Given the description of an element on the screen output the (x, y) to click on. 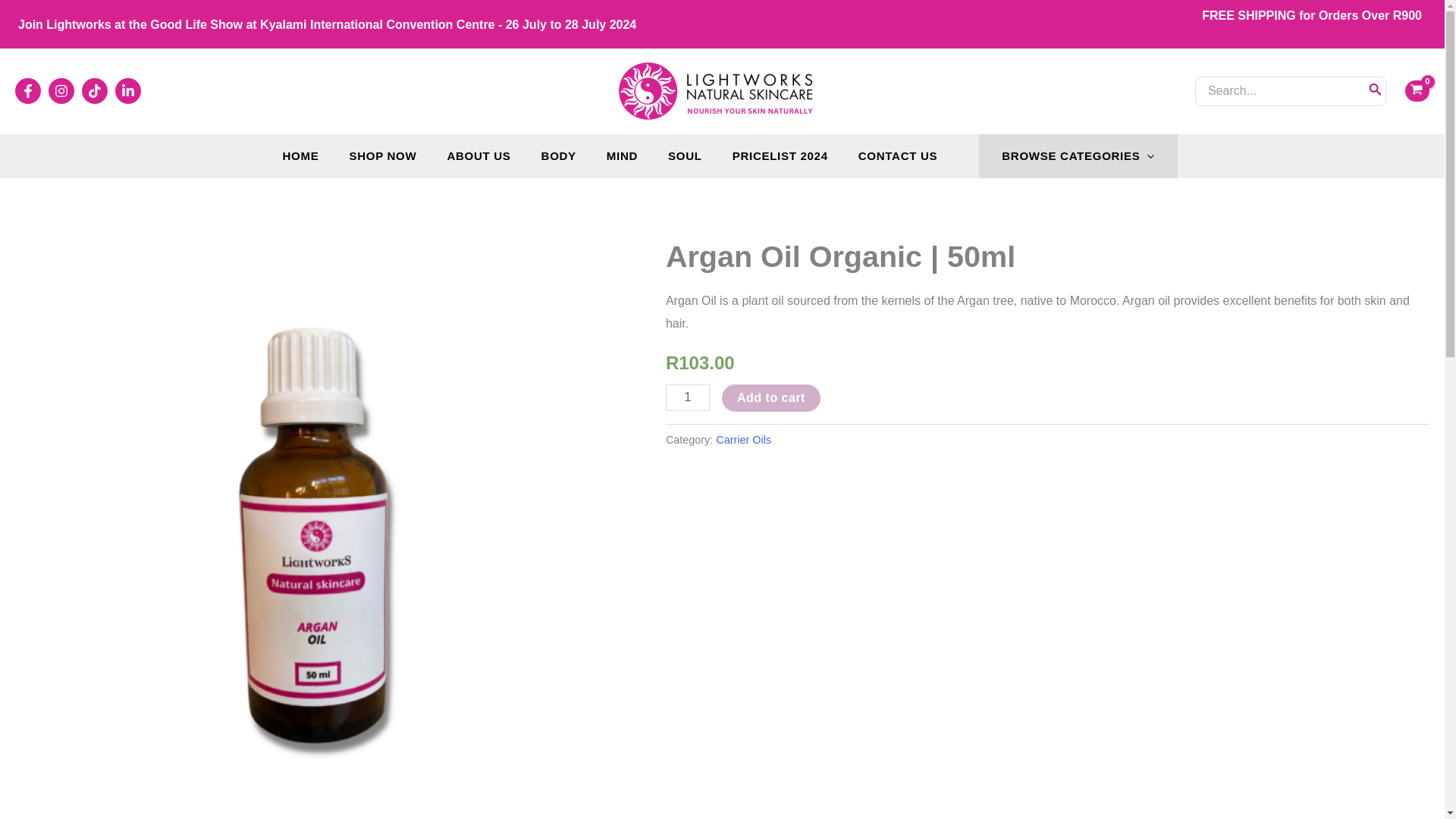
CONTACT US (898, 156)
1 (687, 397)
PRICELIST 2024 (780, 156)
BROWSE CATEGORIES (1077, 156)
SHOP NOW (381, 156)
SOUL (684, 156)
Add to cart (771, 397)
BODY (558, 156)
MIND (621, 156)
ABOUT US (477, 156)
HOME (299, 156)
Carrier Oils (743, 439)
